Given the description of an element on the screen output the (x, y) to click on. 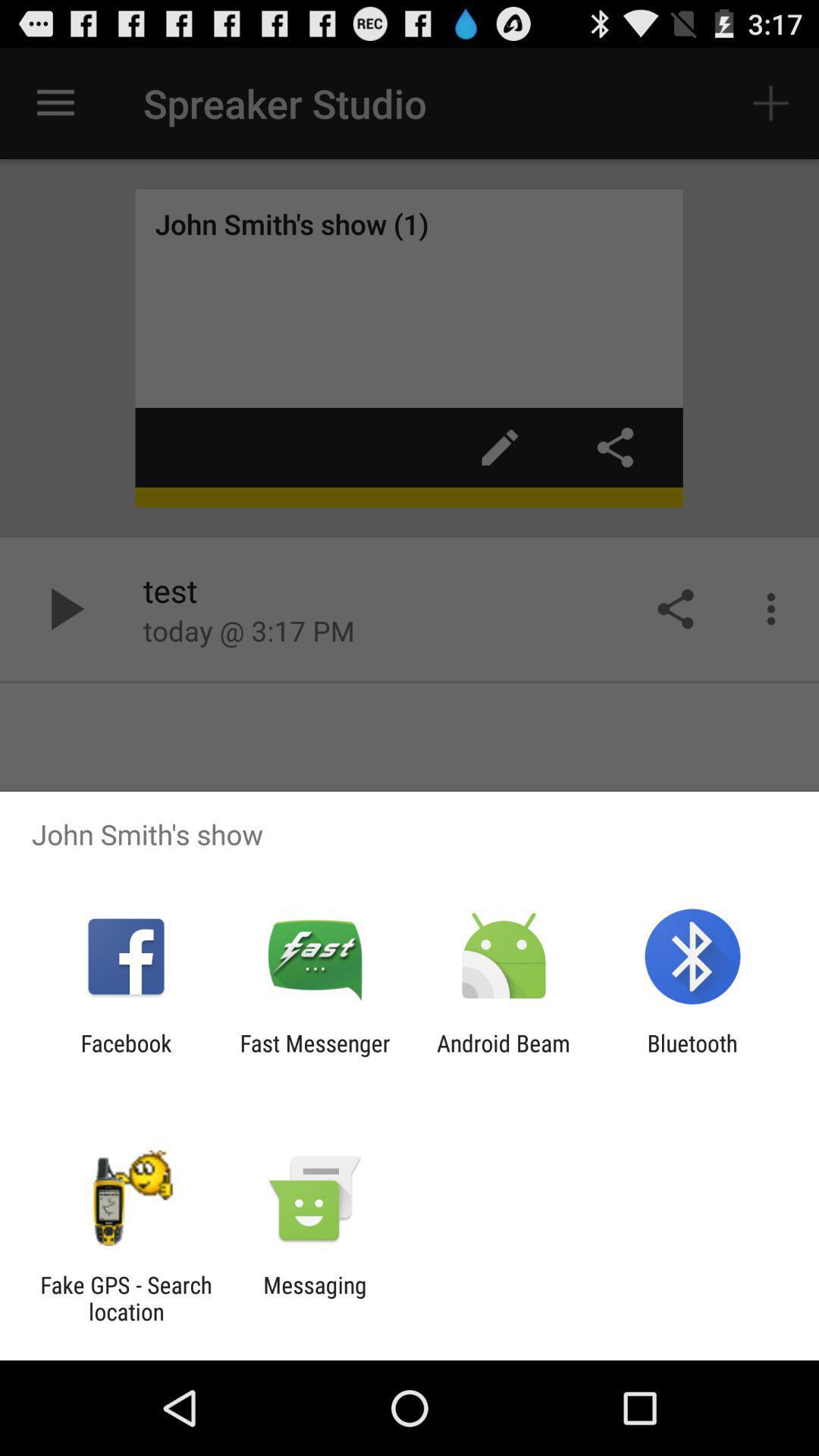
jump until facebook icon (125, 1056)
